Given the description of an element on the screen output the (x, y) to click on. 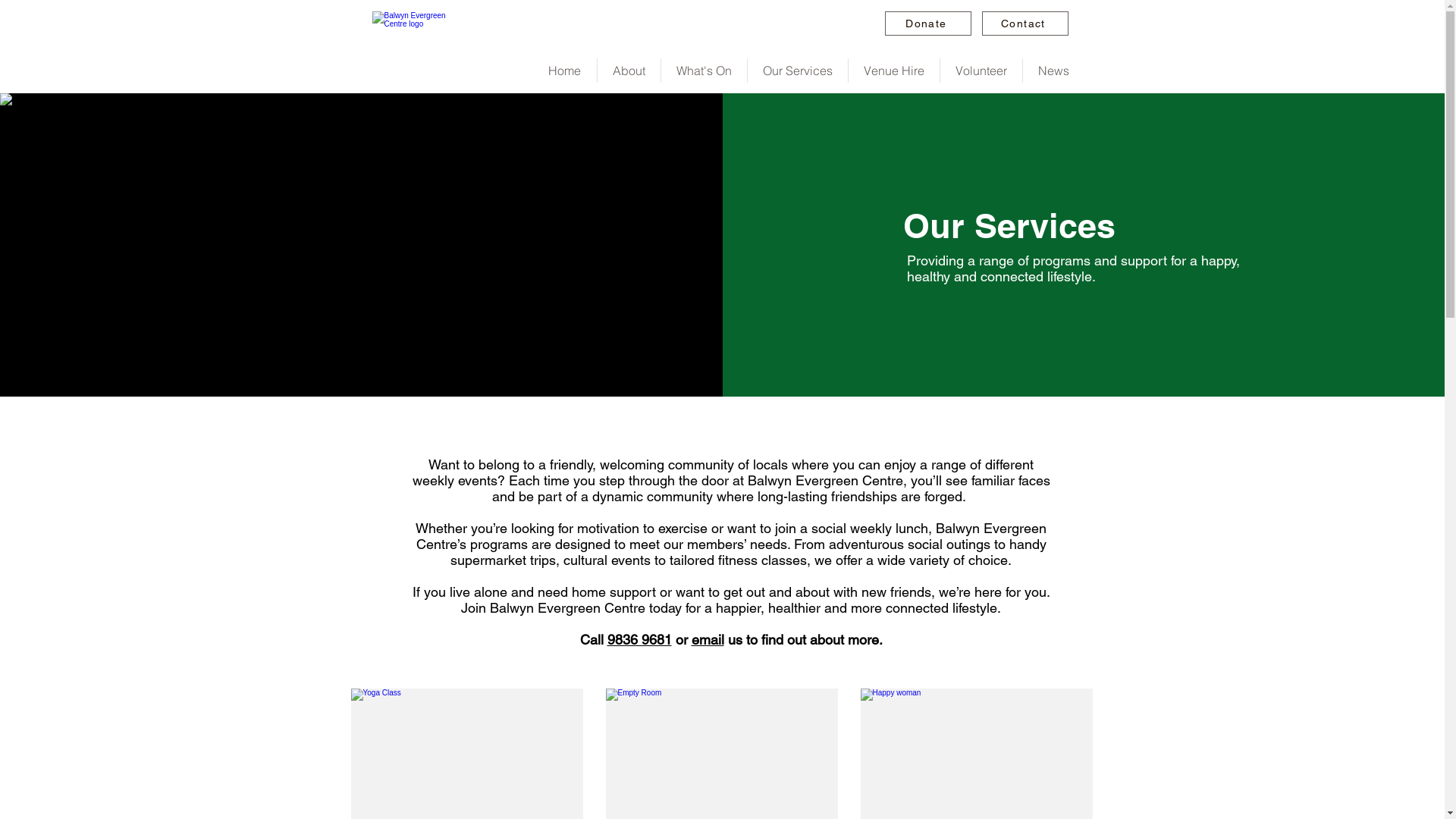
email Element type: text (707, 639)
9836 9681 Element type: text (638, 639)
Our Services Element type: text (797, 70)
What's On Element type: text (703, 70)
Volunteer Element type: text (981, 70)
News Element type: text (1052, 70)
Donate Element type: text (927, 23)
Contact Element type: text (1024, 23)
Home Element type: text (564, 70)
Venue Hire Element type: text (892, 70)
